Given the description of an element on the screen output the (x, y) to click on. 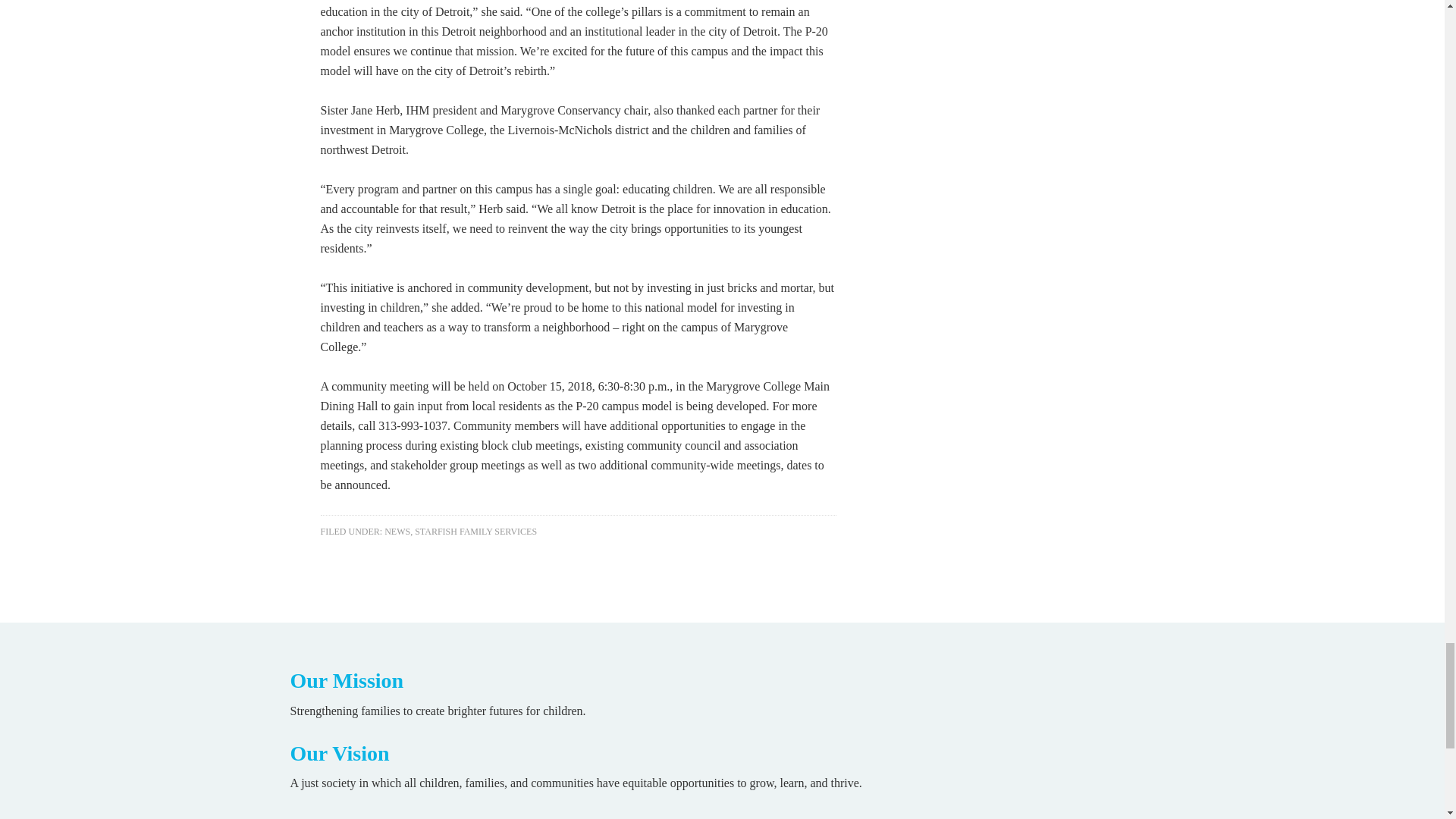
NEWS (397, 531)
STARFISH FAMILY SERVICES (475, 531)
